Given the description of an element on the screen output the (x, y) to click on. 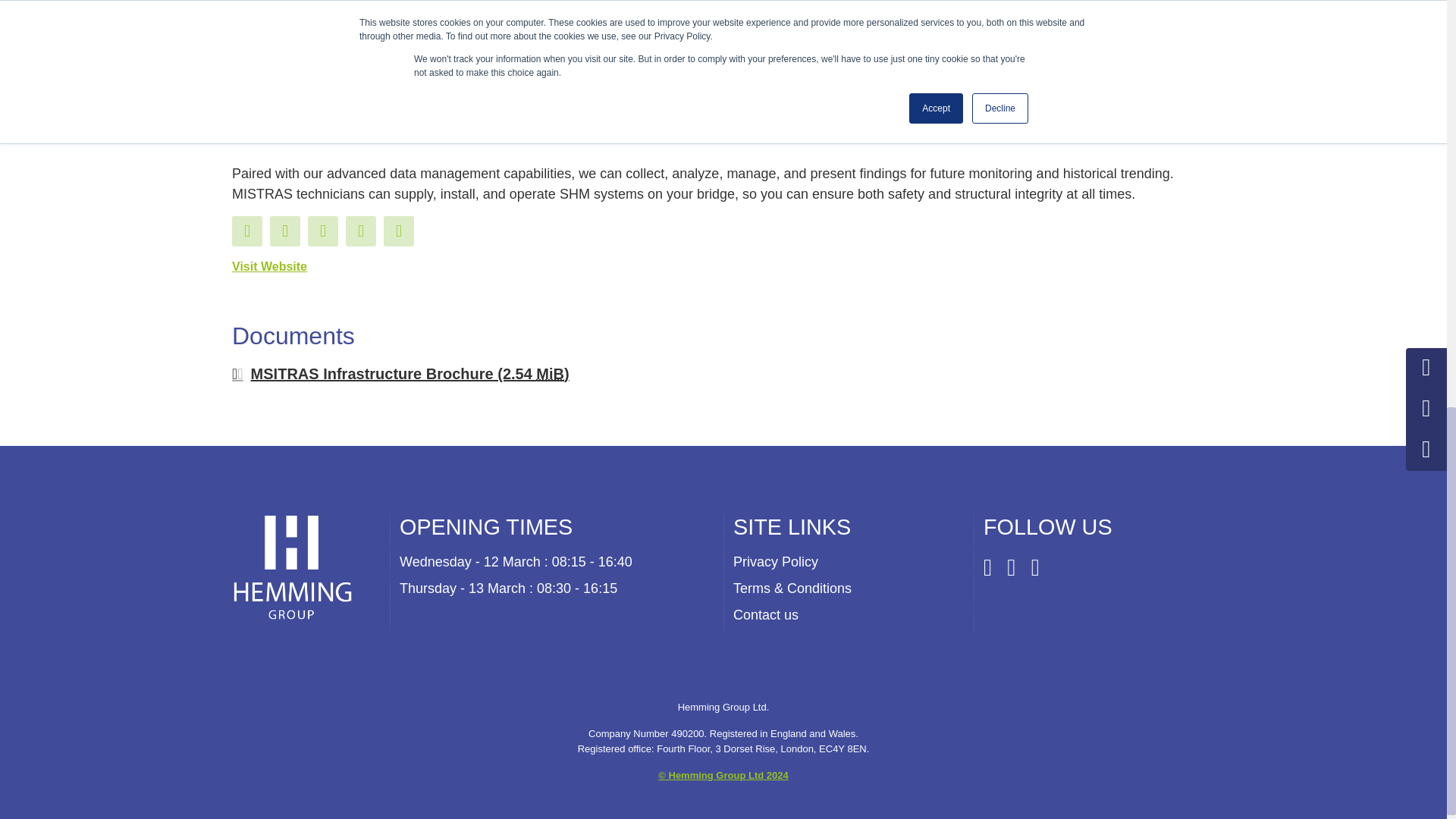
Visit Twitter Page (284, 231)
Visit Twitter Page (322, 231)
Visit Facebook Page (246, 231)
Visit Twitter Page (398, 231)
Visit Twitter Page (360, 231)
